Given the description of an element on the screen output the (x, y) to click on. 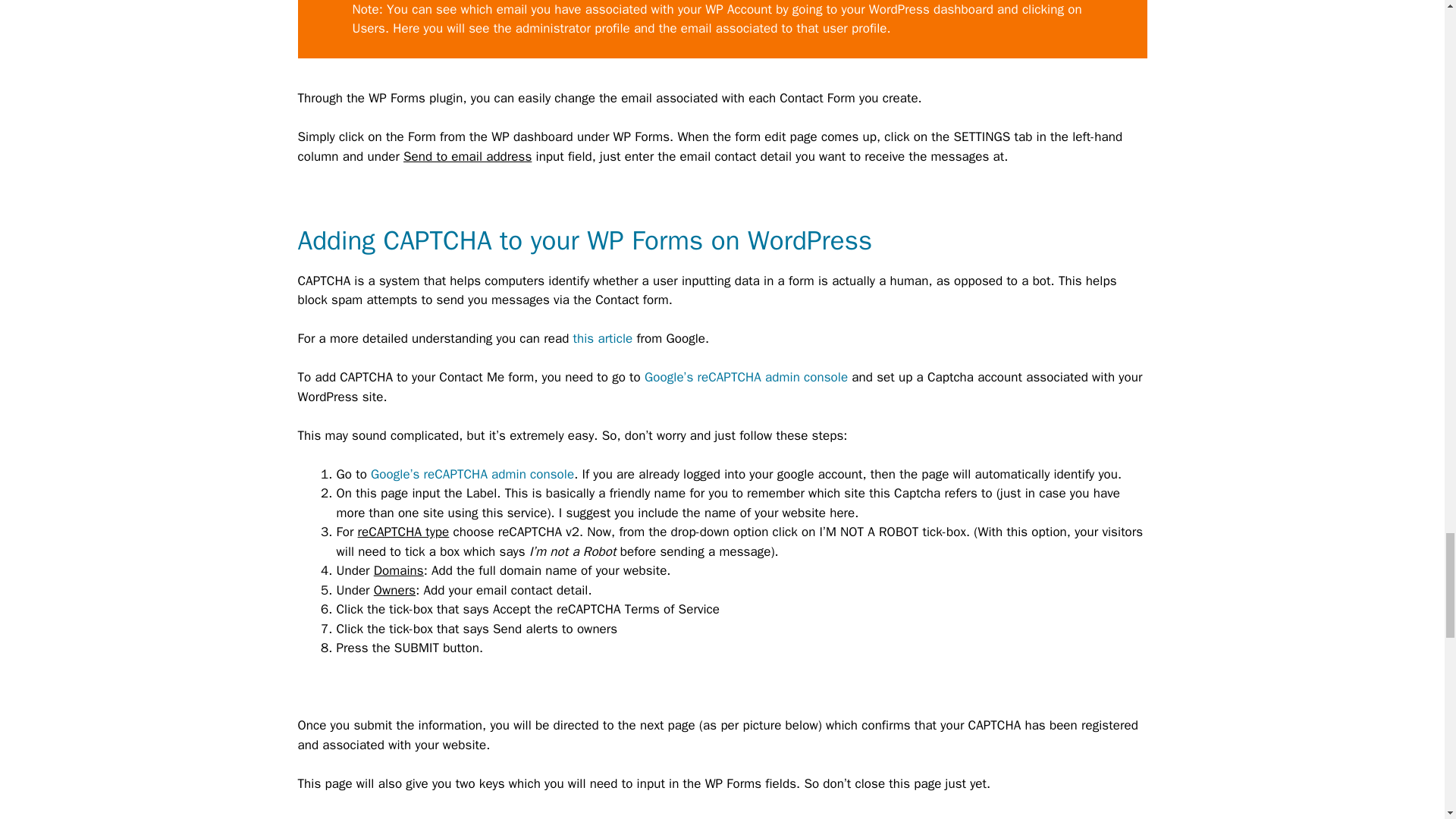
Adding CAPTCHA to your WP Forms on WordPress (584, 240)
this article (603, 338)
